Given the description of an element on the screen output the (x, y) to click on. 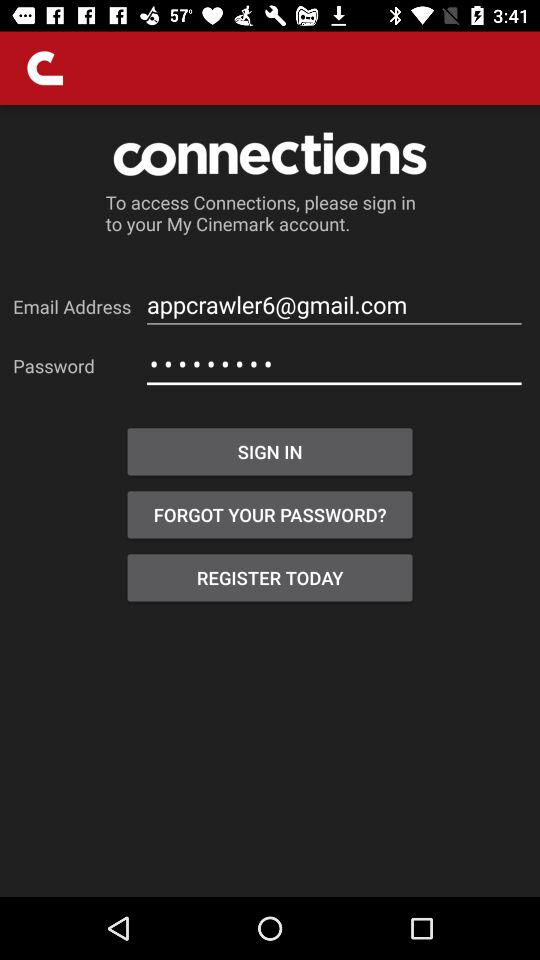
tap item next to the email address (333, 304)
